Given the description of an element on the screen output the (x, y) to click on. 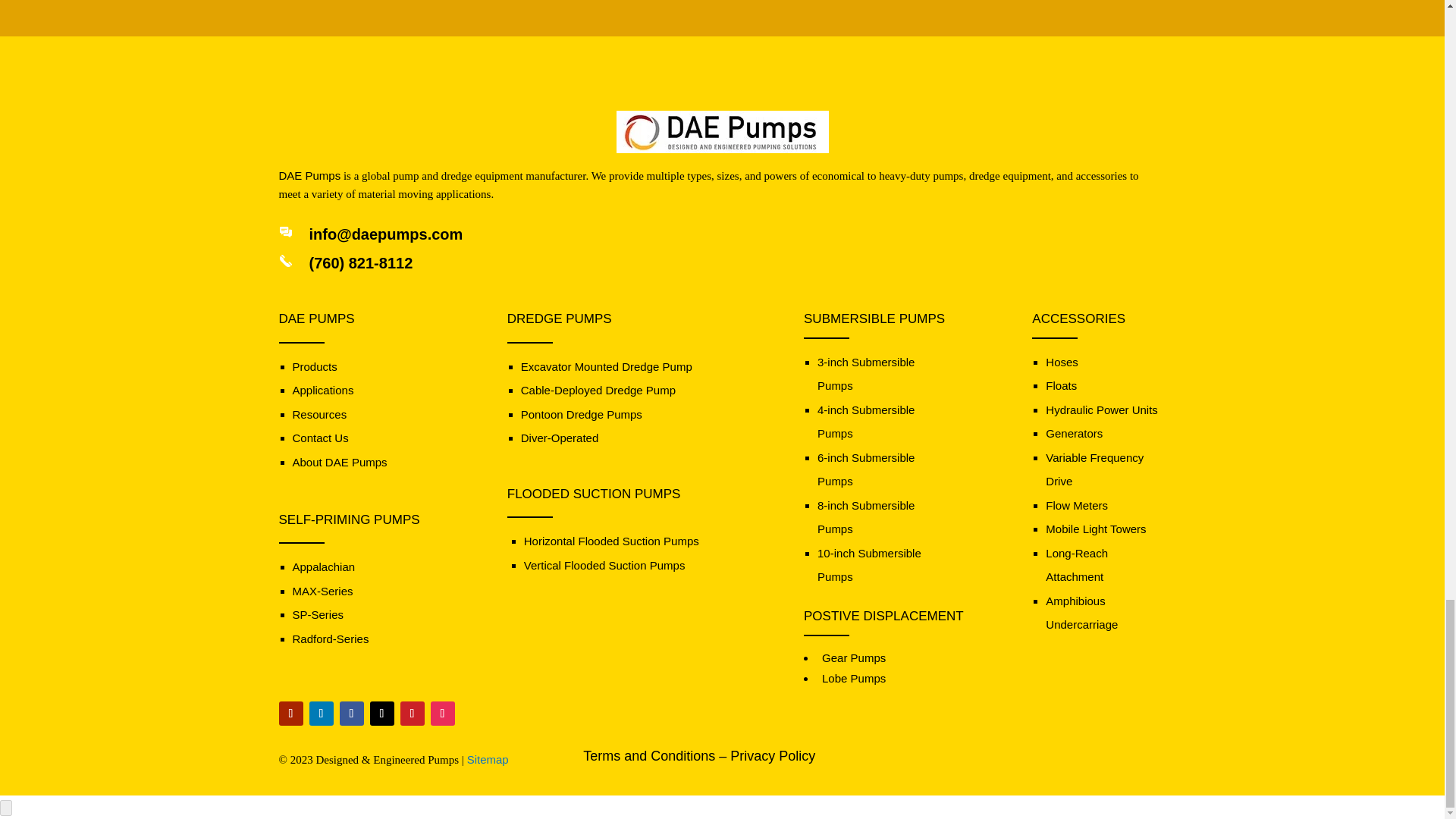
Follow on Pinterest (412, 713)
DAE Pumps (721, 131)
Follow on X (381, 713)
Follow on Facebook (351, 713)
Follow on LinkedIn (320, 713)
Follow on Instagram (442, 713)
Follow on Youtube (290, 713)
